Given the description of an element on the screen output the (x, y) to click on. 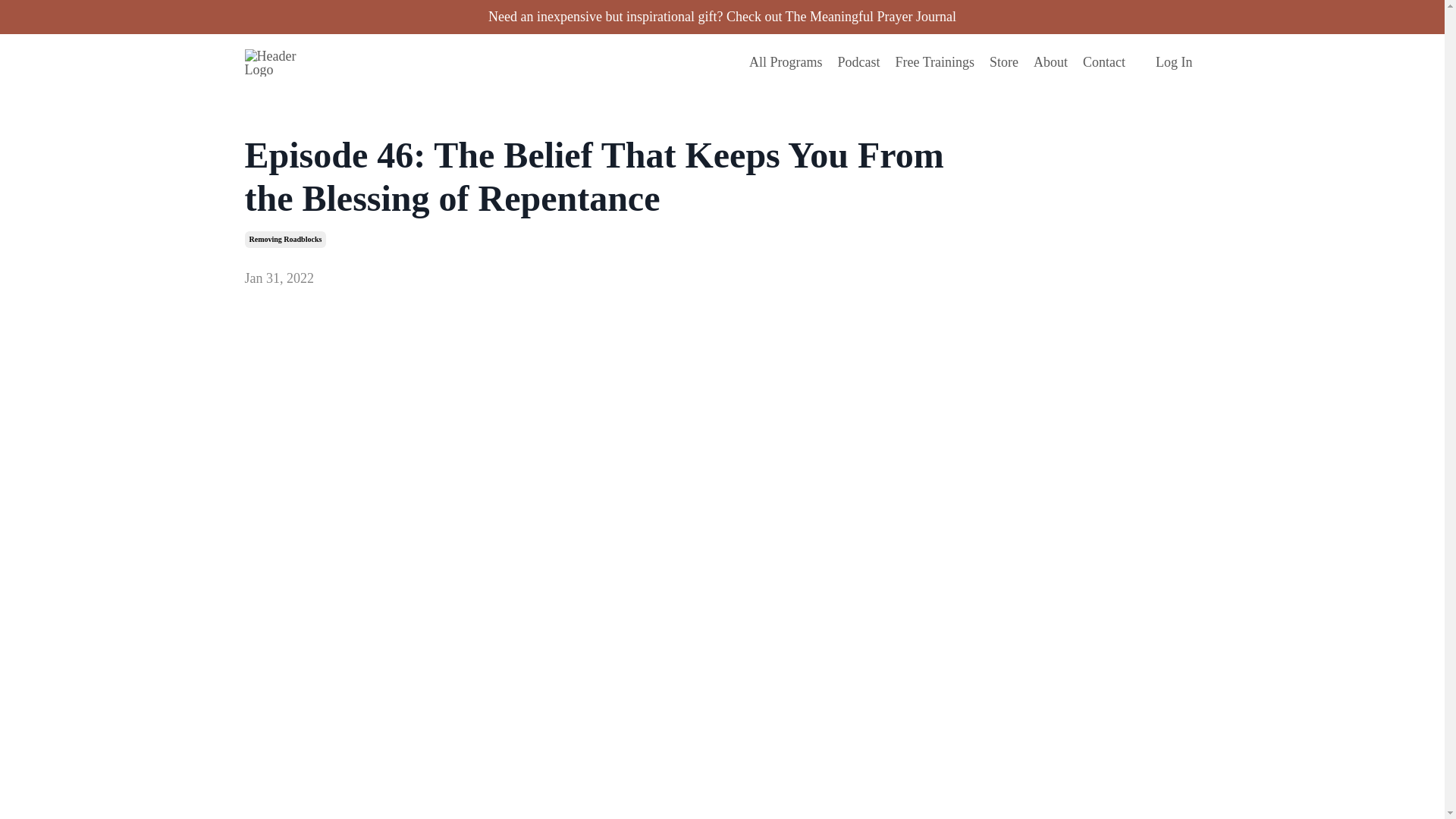
About (1050, 62)
Contact (1104, 62)
Podcast (858, 62)
Free Trainings (934, 62)
All Programs (785, 62)
Store (1003, 62)
Log In (1174, 61)
Removing Roadblocks (285, 239)
